Given the description of an element on the screen output the (x, y) to click on. 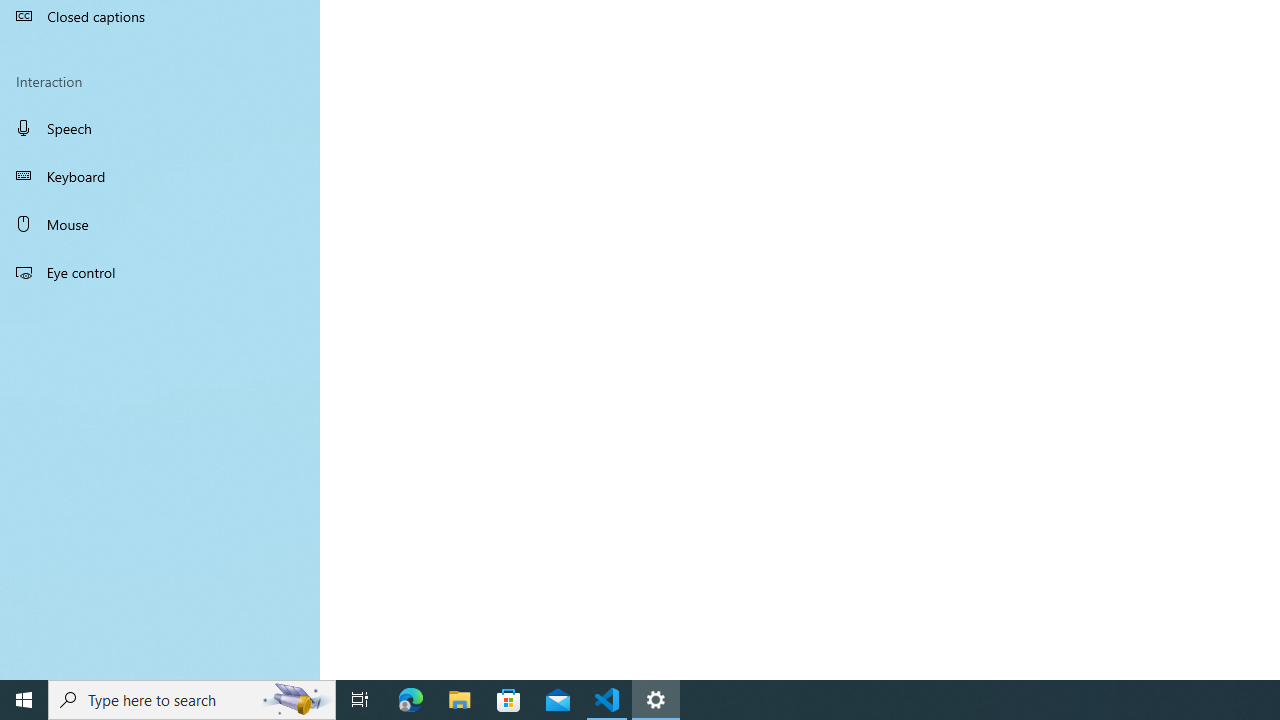
Eye control (160, 271)
Speech (160, 127)
Mouse (160, 223)
Keyboard (160, 175)
